Given the description of an element on the screen output the (x, y) to click on. 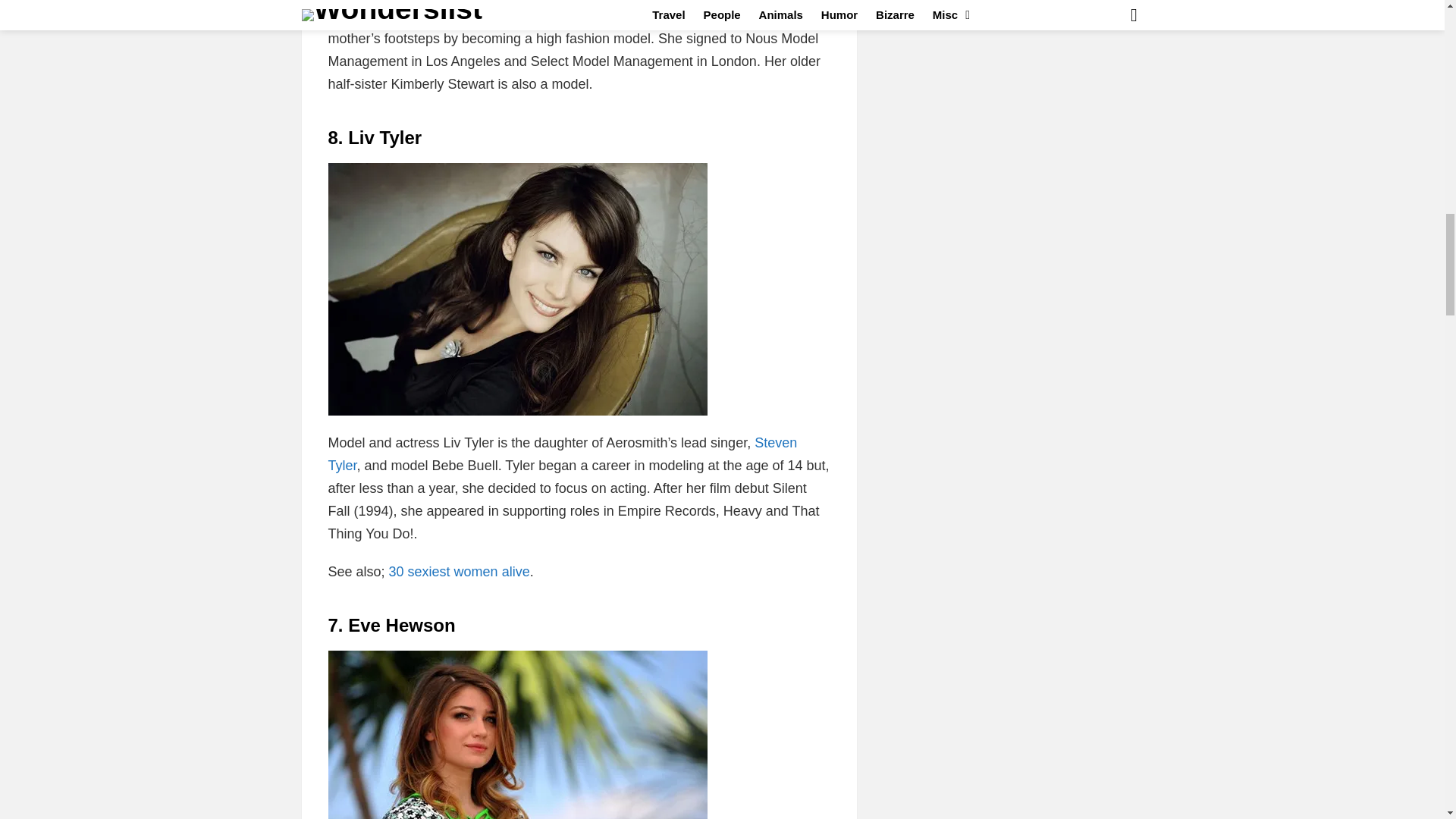
30 sexiest women alive (458, 571)
Steven Tyler (561, 453)
10 Bad Looking Celebrities In The World (561, 453)
